Given the description of an element on the screen output the (x, y) to click on. 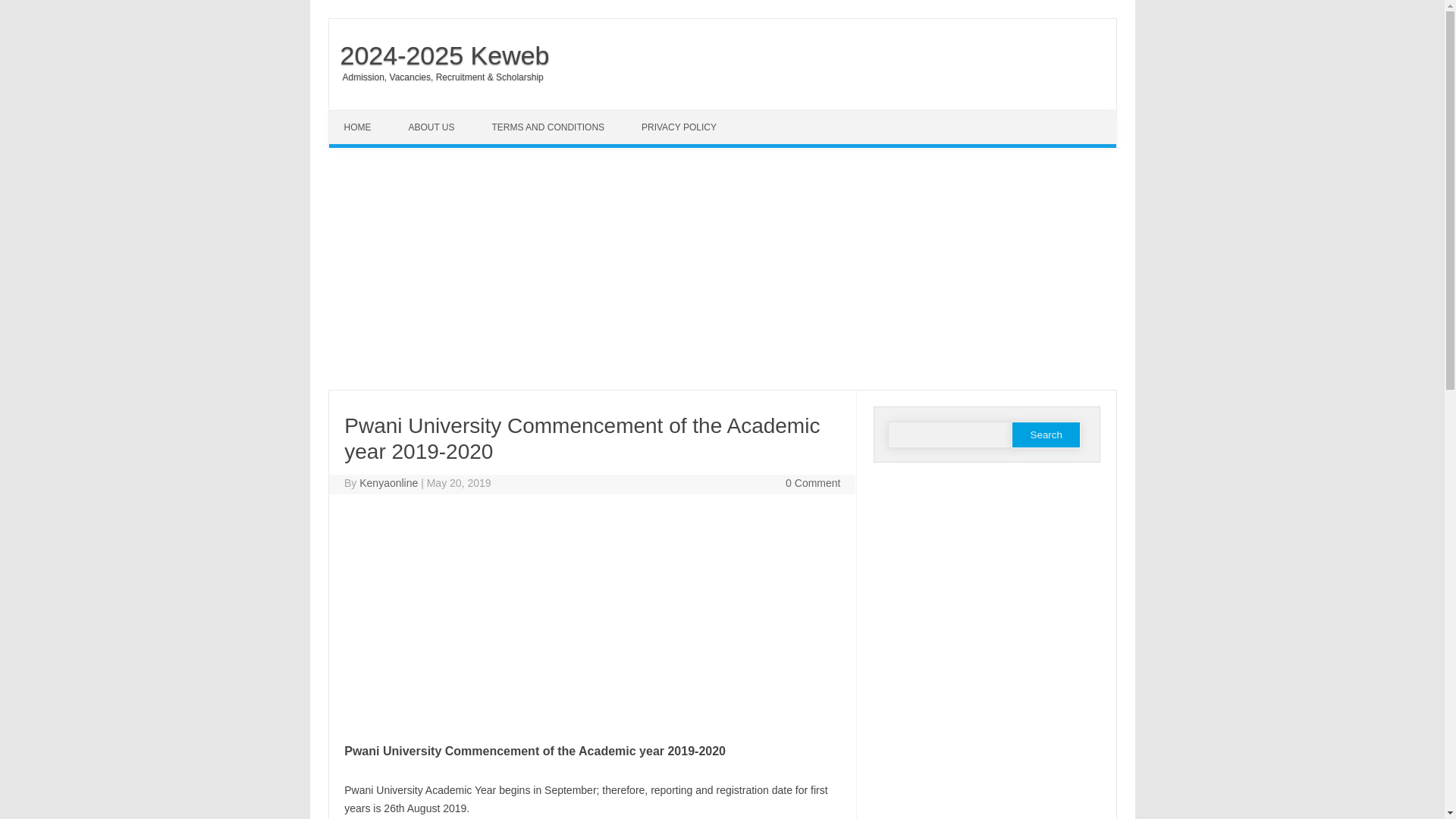
TERMS AND CONDITIONS (549, 127)
2024-2025 Keweb (439, 54)
PRIVACY POLICY (680, 127)
ABOUT US (433, 127)
0 Comment (813, 482)
Posts by Kenyaonline (388, 482)
Skip to content (363, 114)
2024-2025 Keweb (439, 54)
Search (1045, 434)
HOME (359, 127)
